Given the description of an element on the screen output the (x, y) to click on. 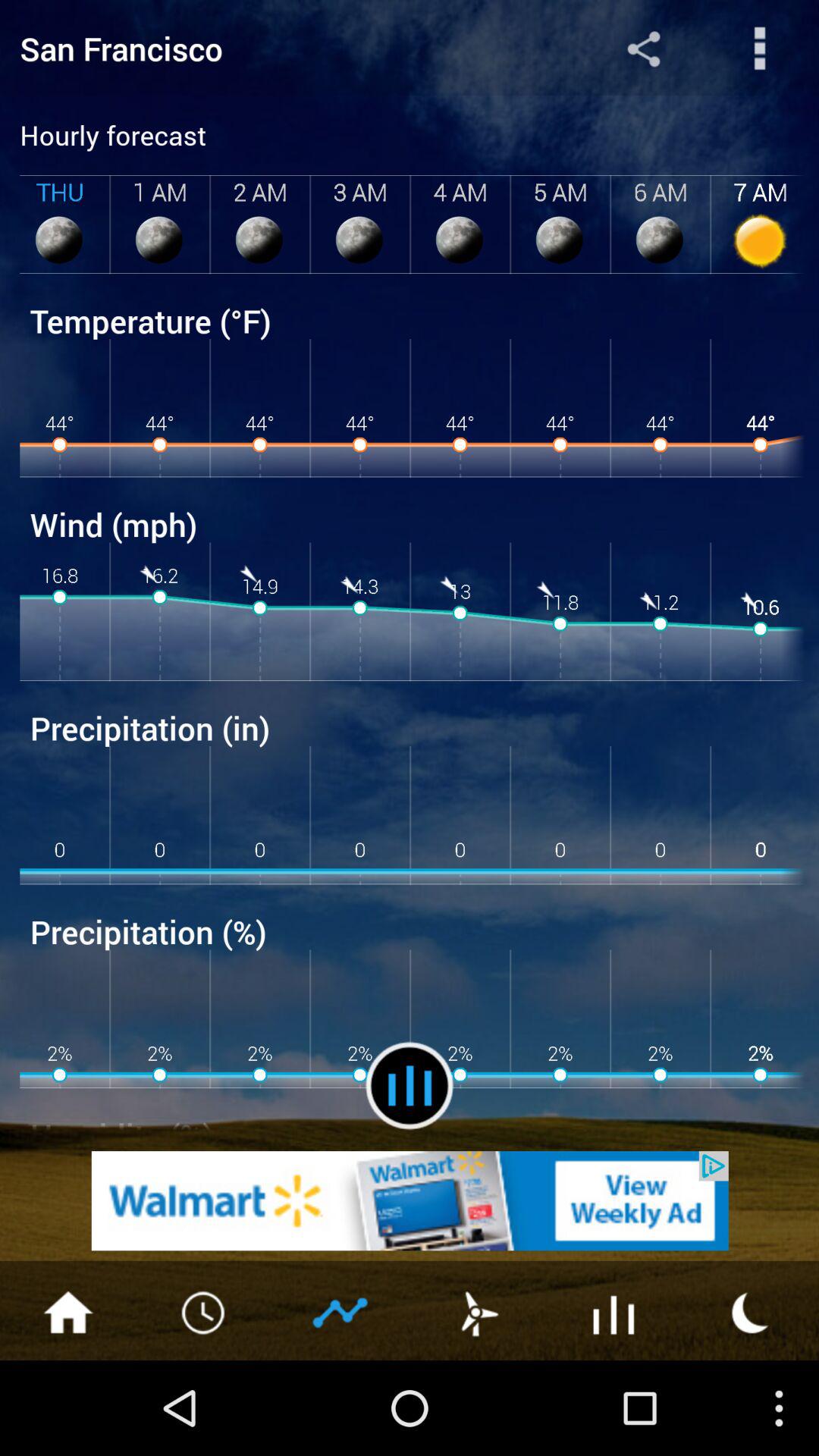
share weather page (759, 48)
